Given the description of an element on the screen output the (x, y) to click on. 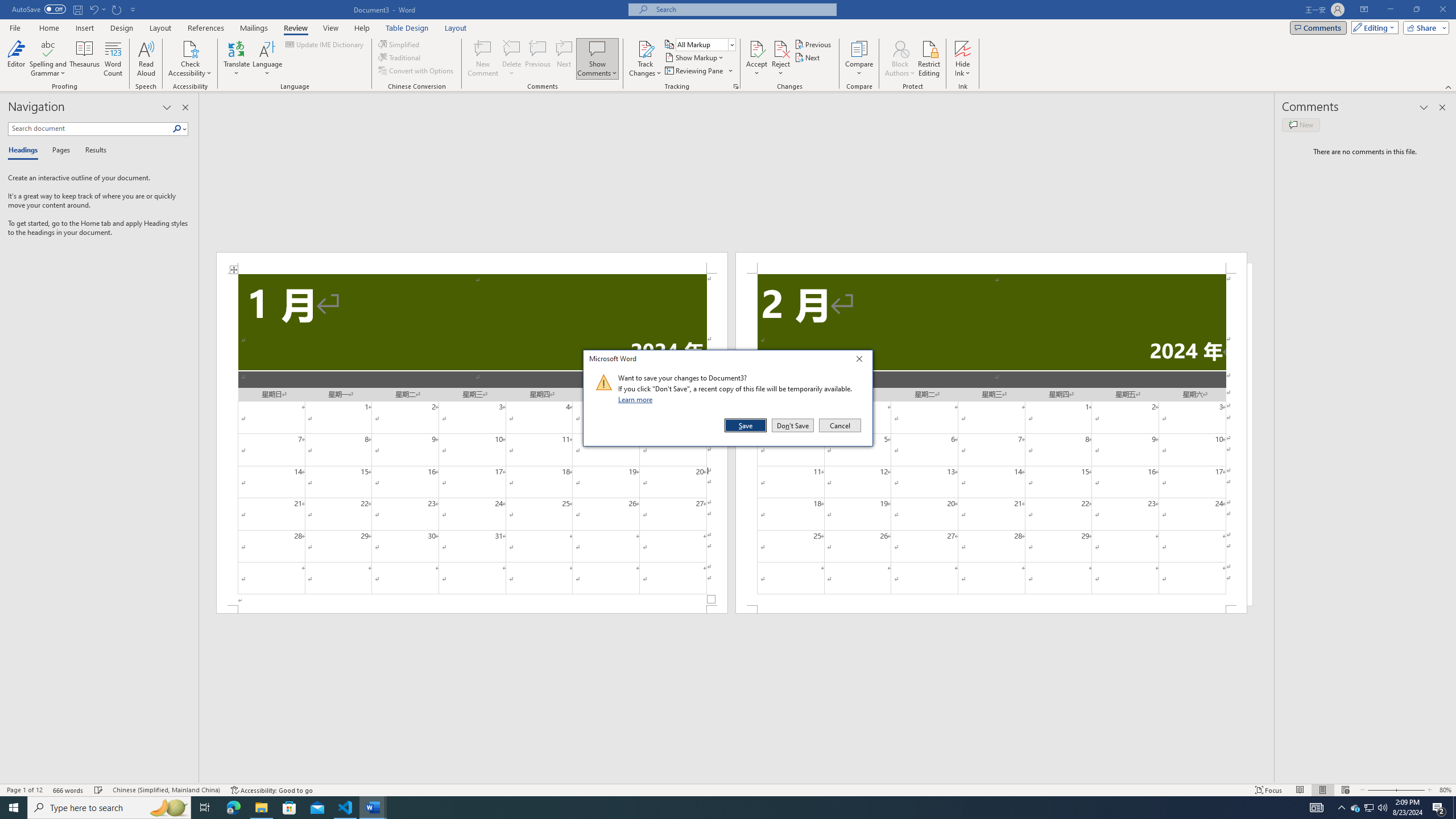
Read Aloud (145, 58)
Reviewing Pane (698, 69)
Accept (756, 58)
Task View (204, 807)
Show desktop (1454, 807)
New Comment (482, 58)
